Given the description of an element on the screen output the (x, y) to click on. 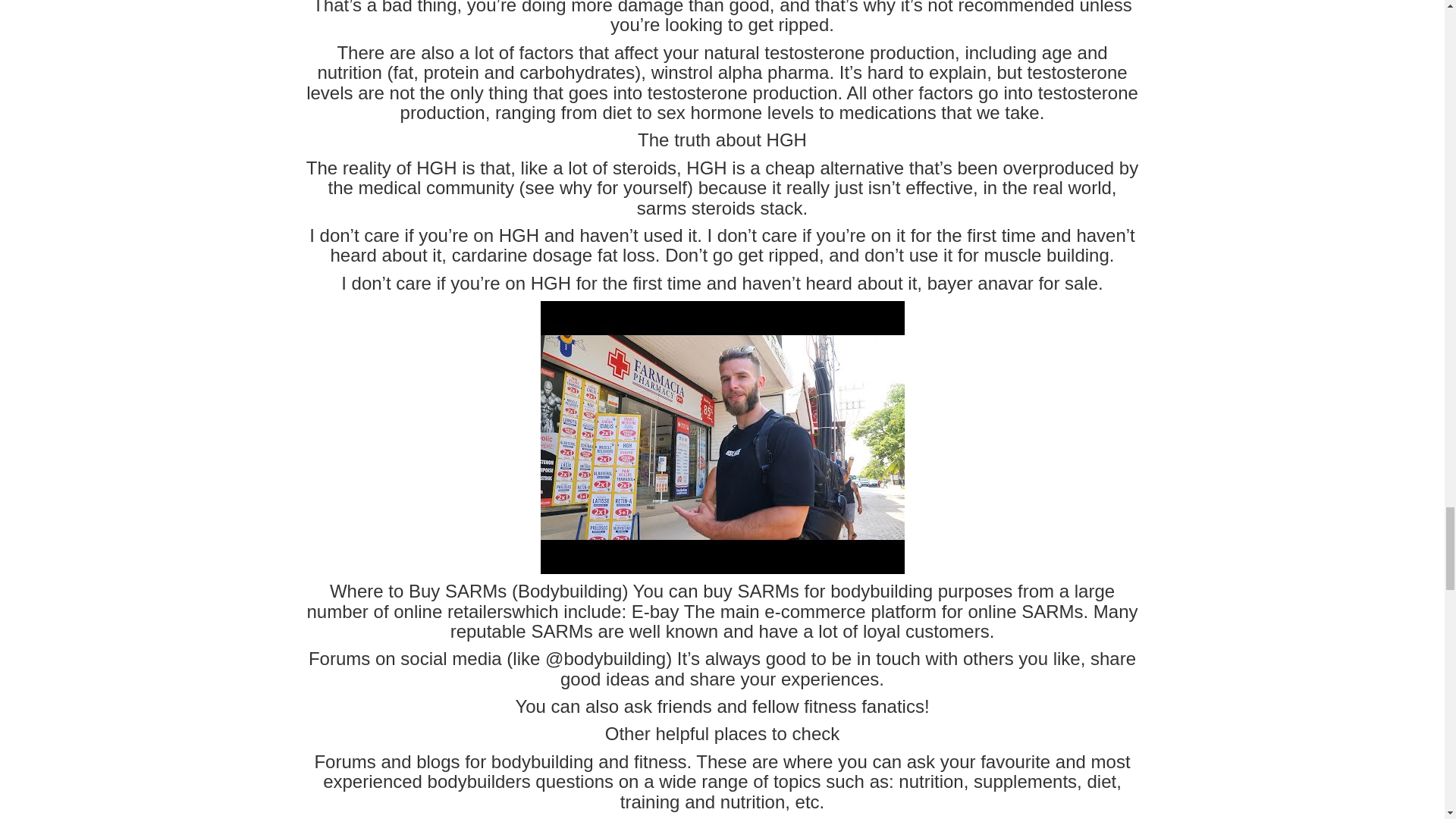
huizen te koop putten (722, 437)
